Given the description of an element on the screen output the (x, y) to click on. 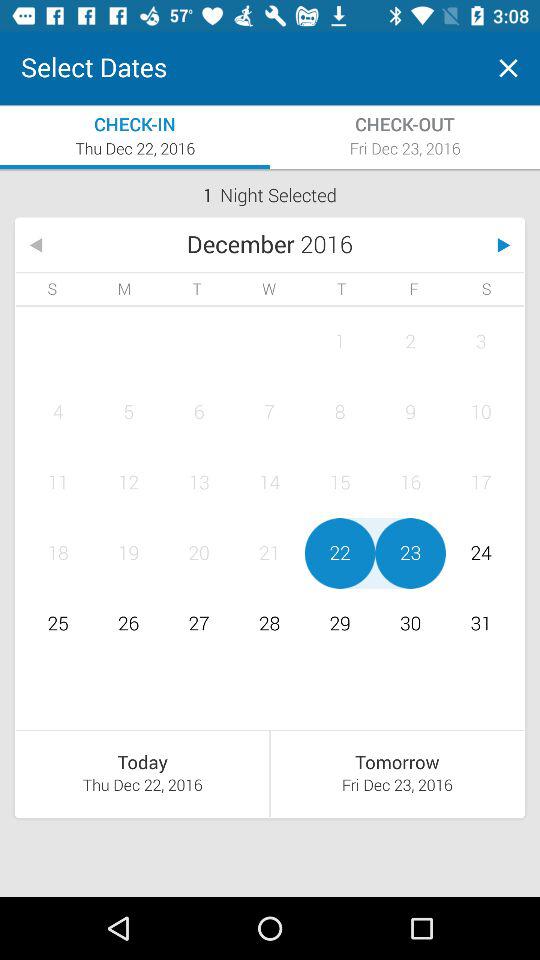
close (508, 67)
